Given the description of an element on the screen output the (x, y) to click on. 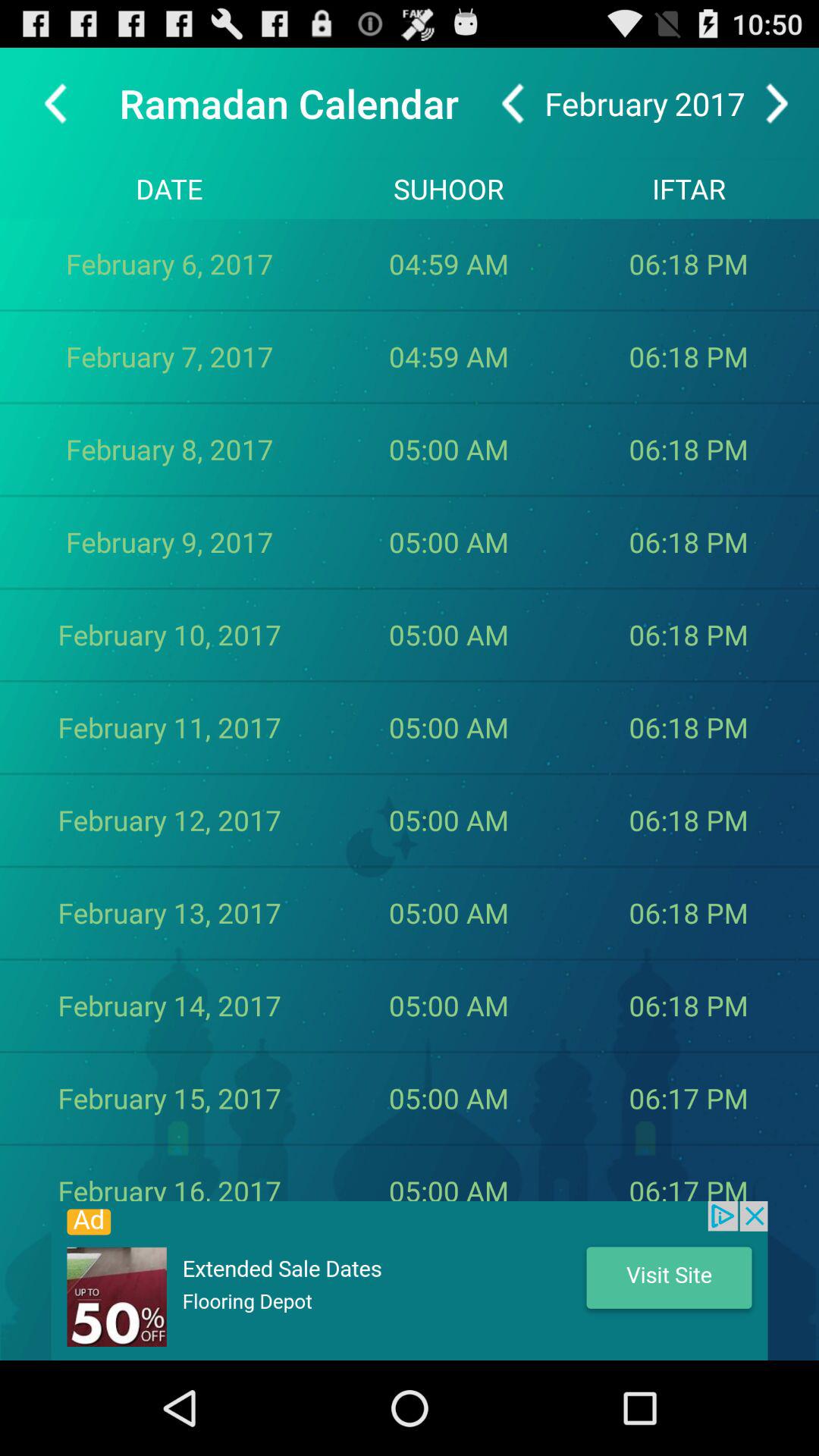
back (512, 103)
